Given the description of an element on the screen output the (x, y) to click on. 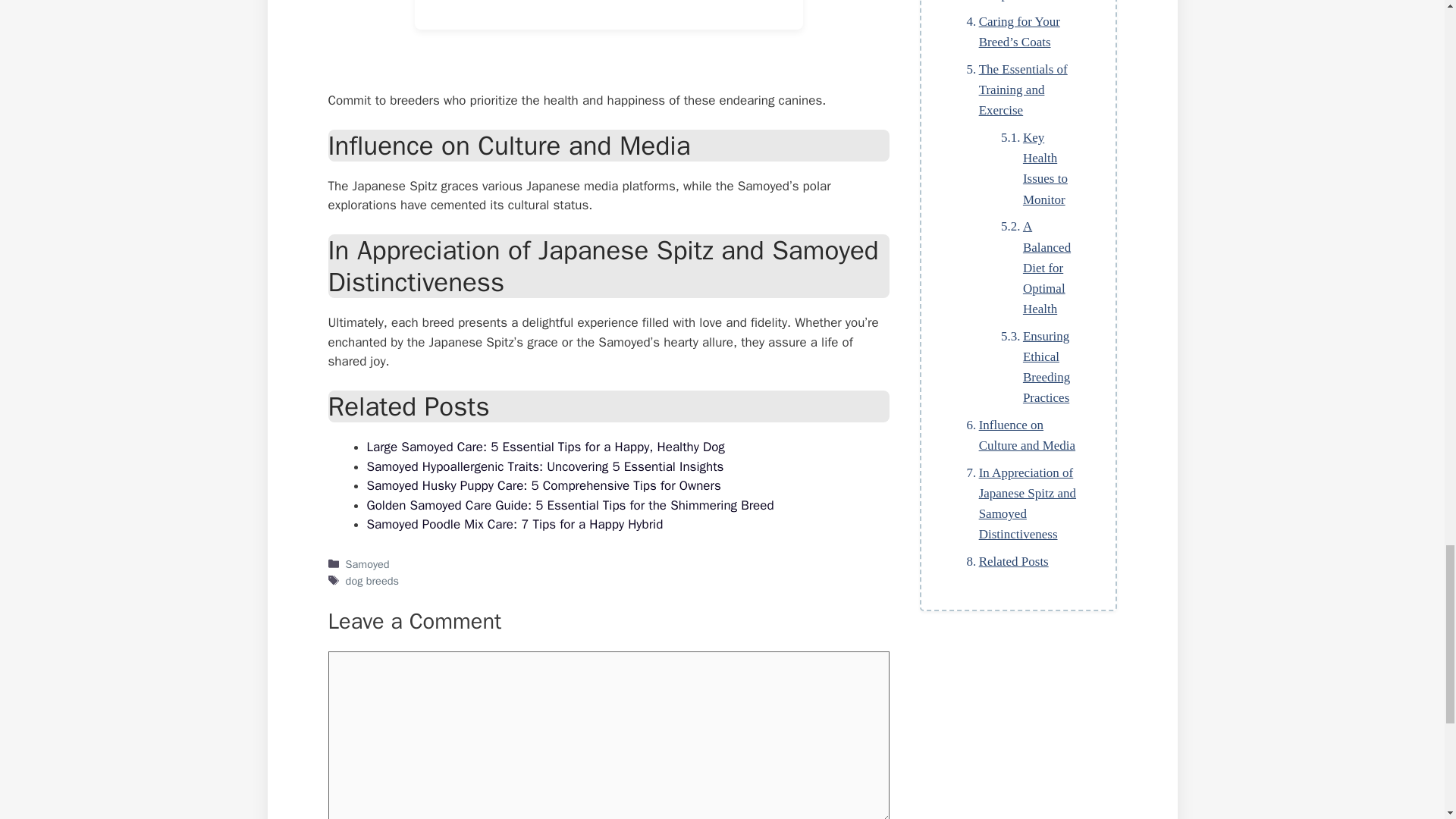
Samoyed Poodle Mix Care: 7 Tips for a Happy Hybrid (514, 524)
dog breeds (372, 581)
Samoyed (368, 563)
Samoyed Husky Puppy Care: 5 Comprehensive Tips for Owners (543, 485)
